Given the description of an element on the screen output the (x, y) to click on. 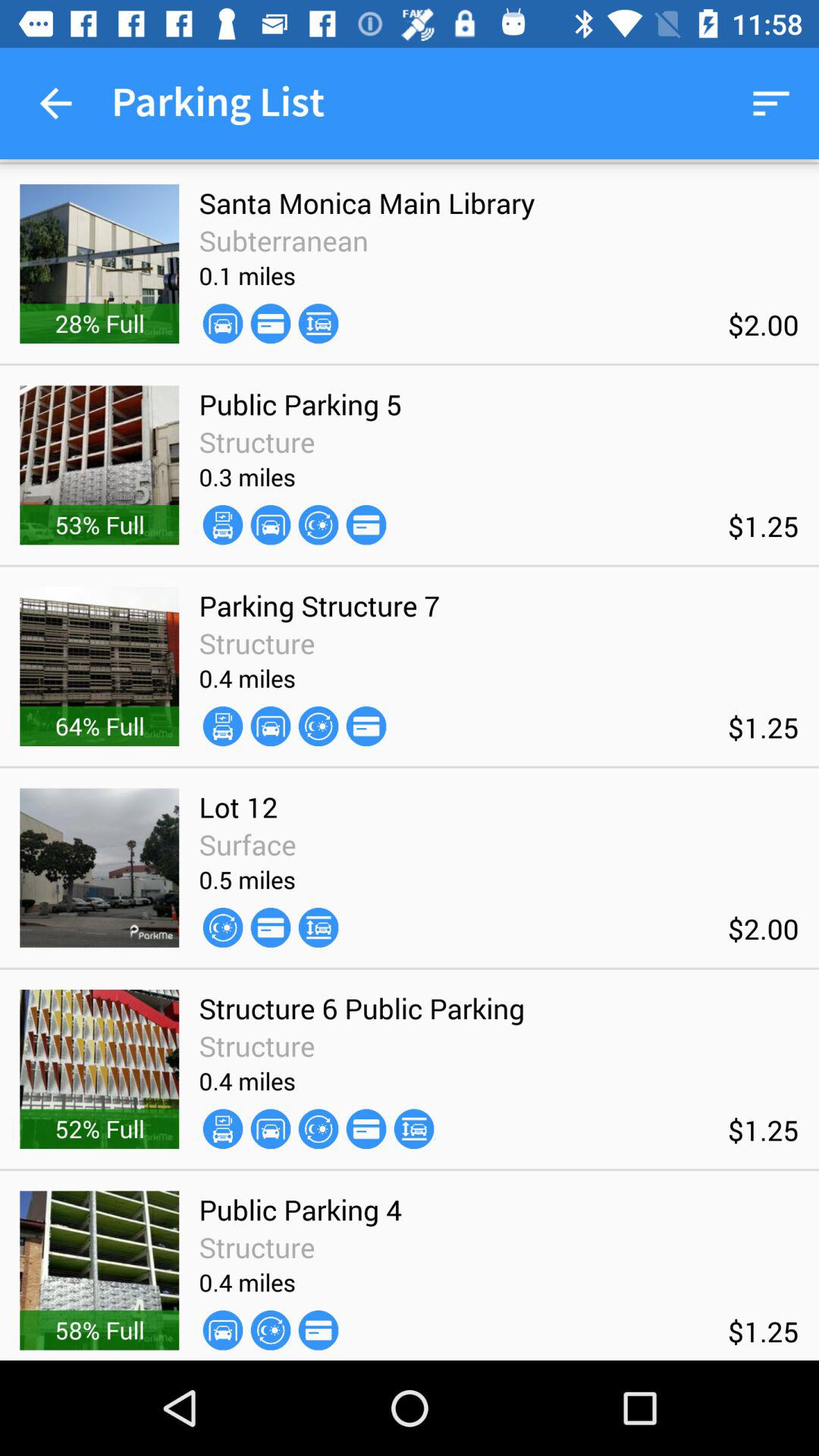
press icon next to $1.25 item (366, 726)
